Given the description of an element on the screen output the (x, y) to click on. 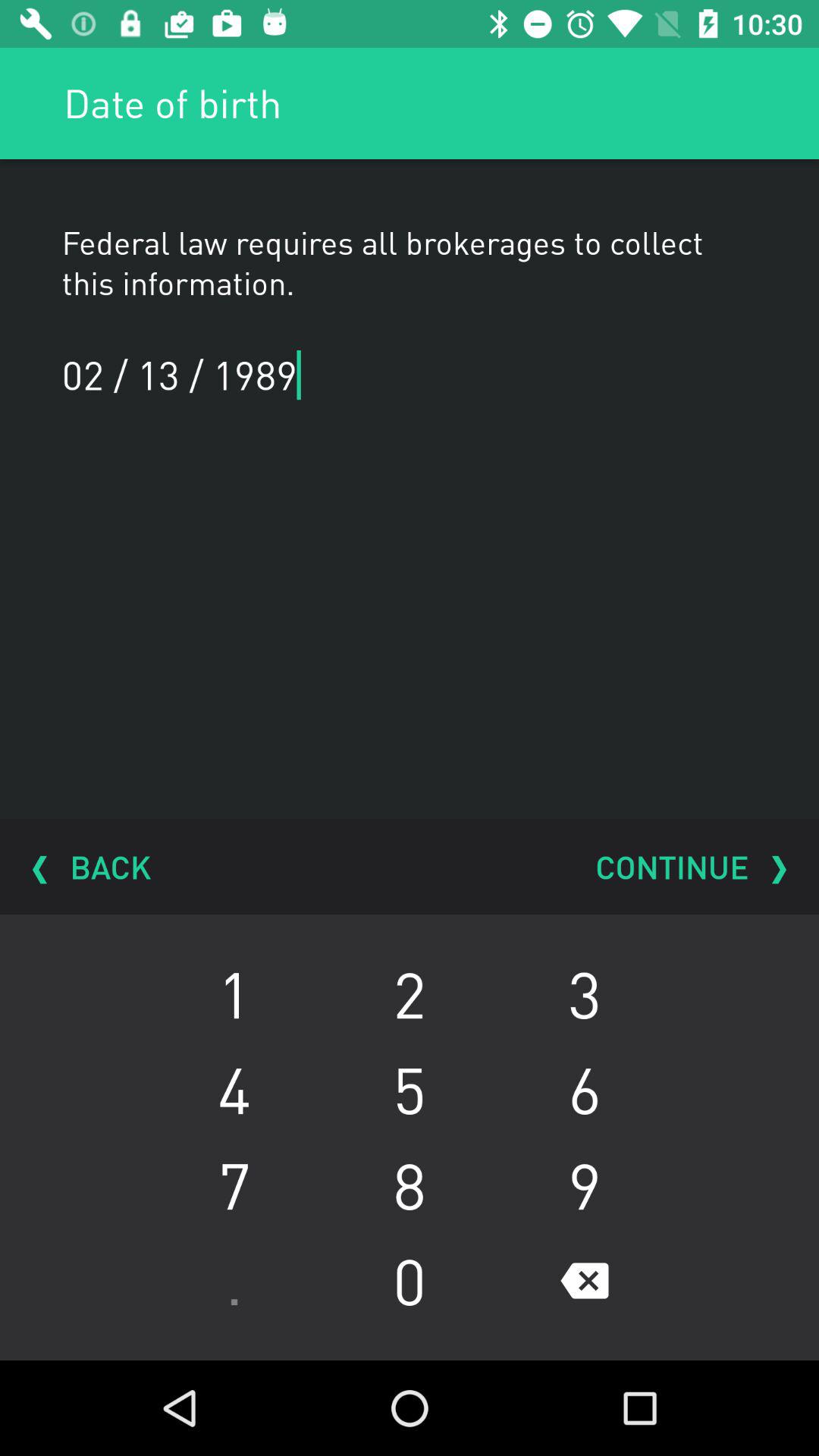
click icon below the 2 (584, 1089)
